Given the description of an element on the screen output the (x, y) to click on. 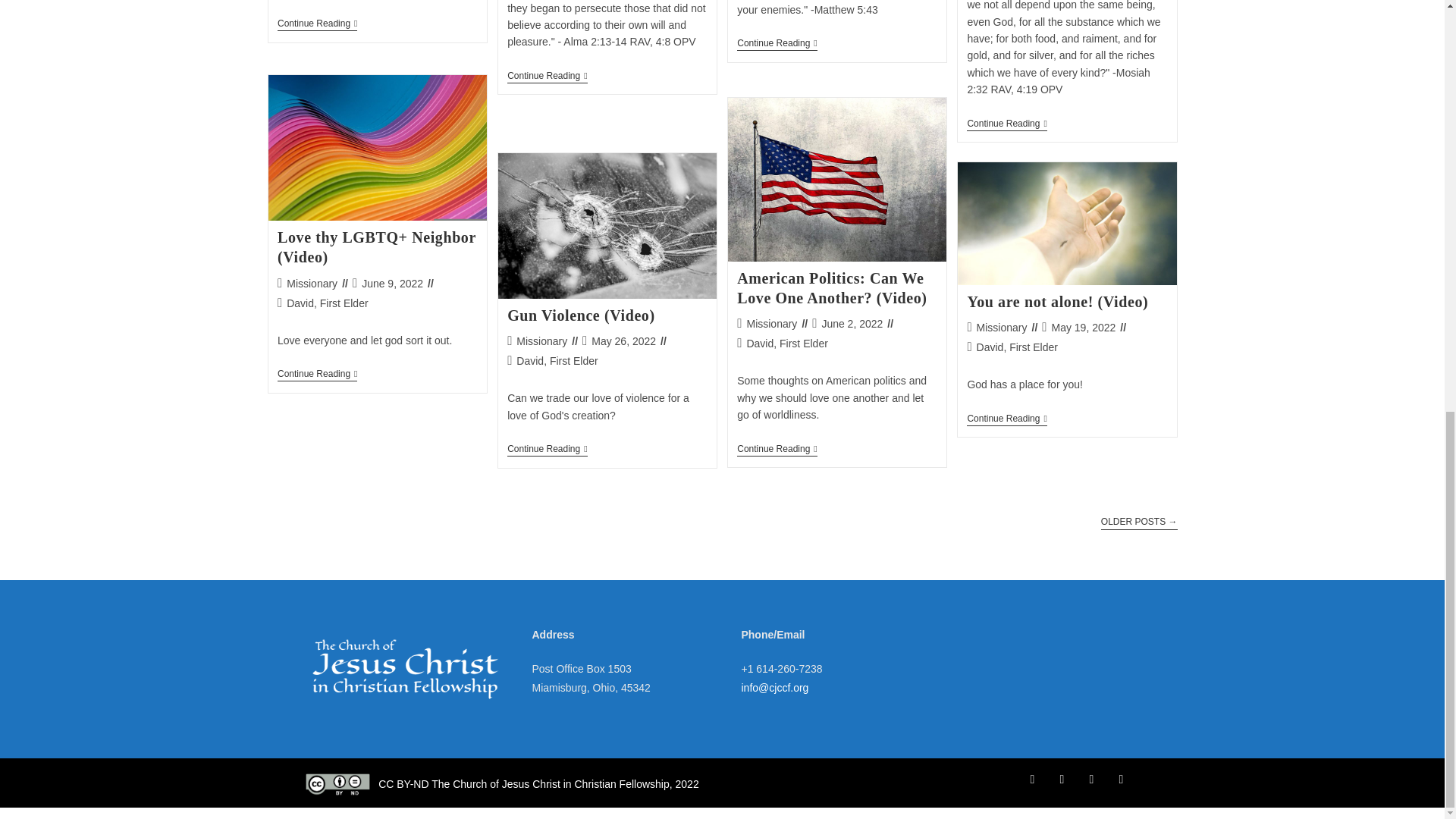
Posts by David, First Elder (327, 303)
Posts by David, First Elder (1017, 346)
Posts by David, First Elder (556, 360)
Posts by David, First Elder (786, 343)
